Given the description of an element on the screen output the (x, y) to click on. 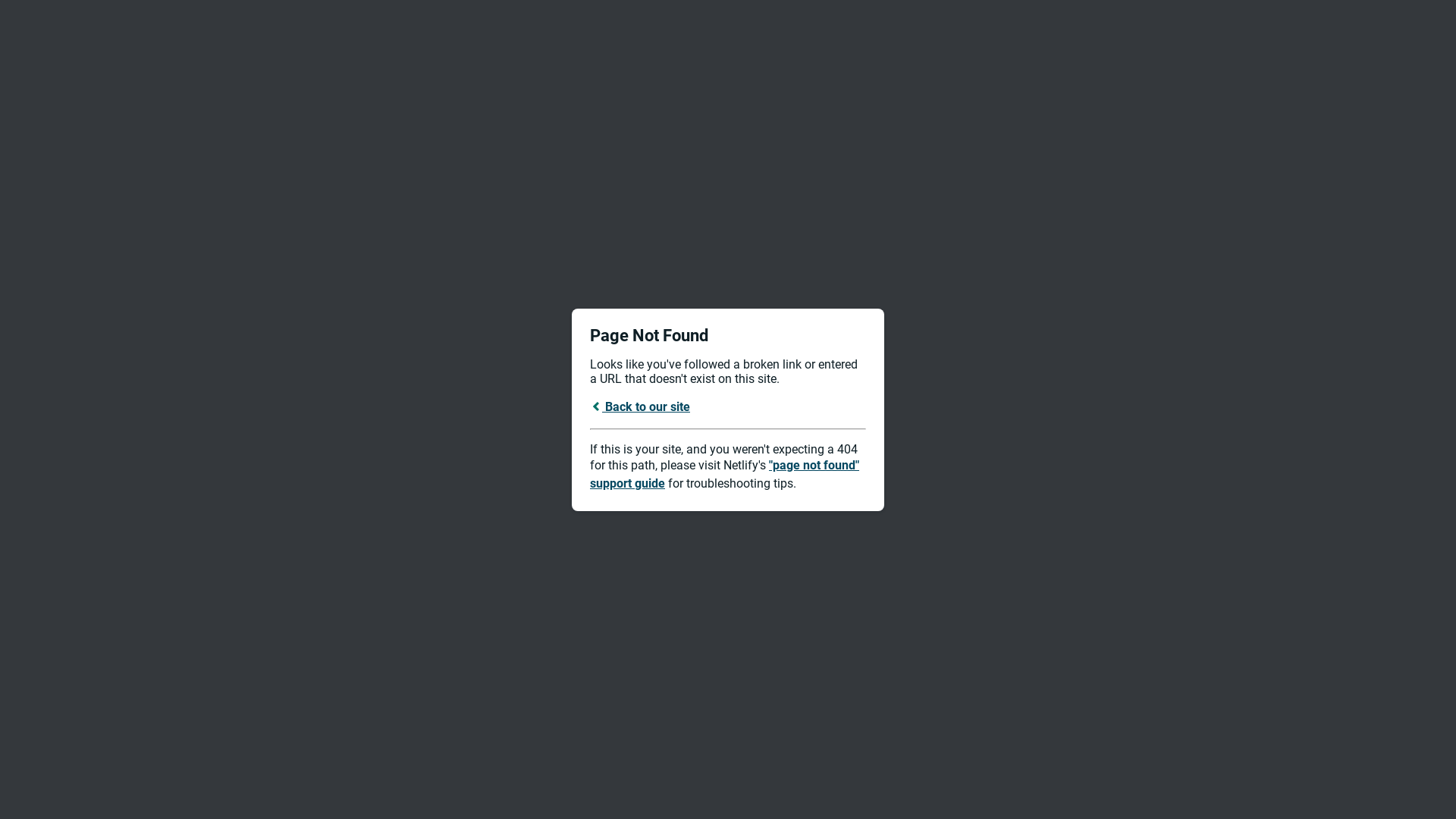
Back to our site Element type: text (639, 405)
"page not found" support guide Element type: text (724, 474)
